Given the description of an element on the screen output the (x, y) to click on. 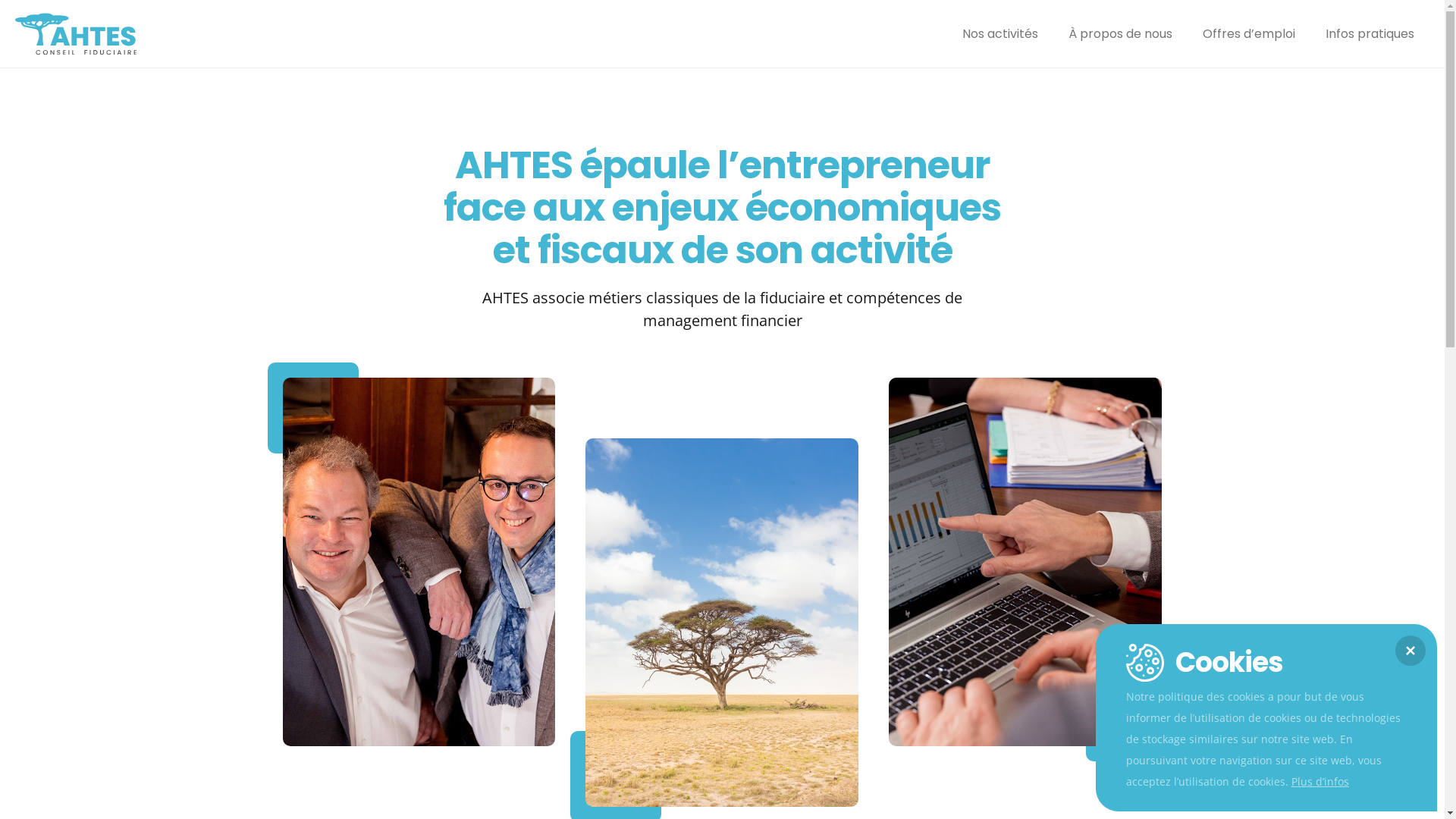
Infos pratiques Element type: text (1369, 34)
